Given the description of an element on the screen output the (x, y) to click on. 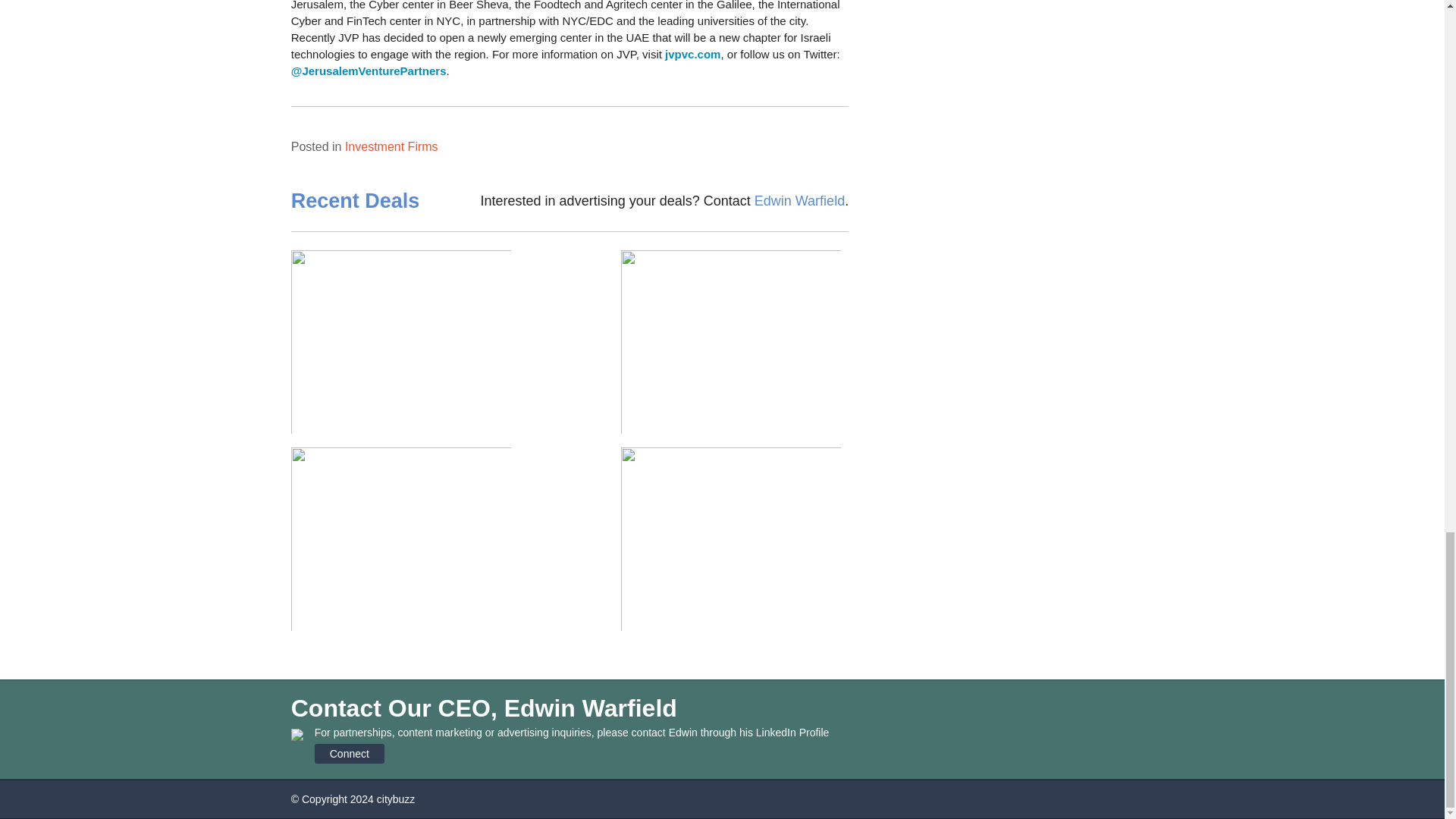
jvpvc.com (692, 53)
Edwin Warfield (799, 200)
Investment Firms (391, 146)
